Given the description of an element on the screen output the (x, y) to click on. 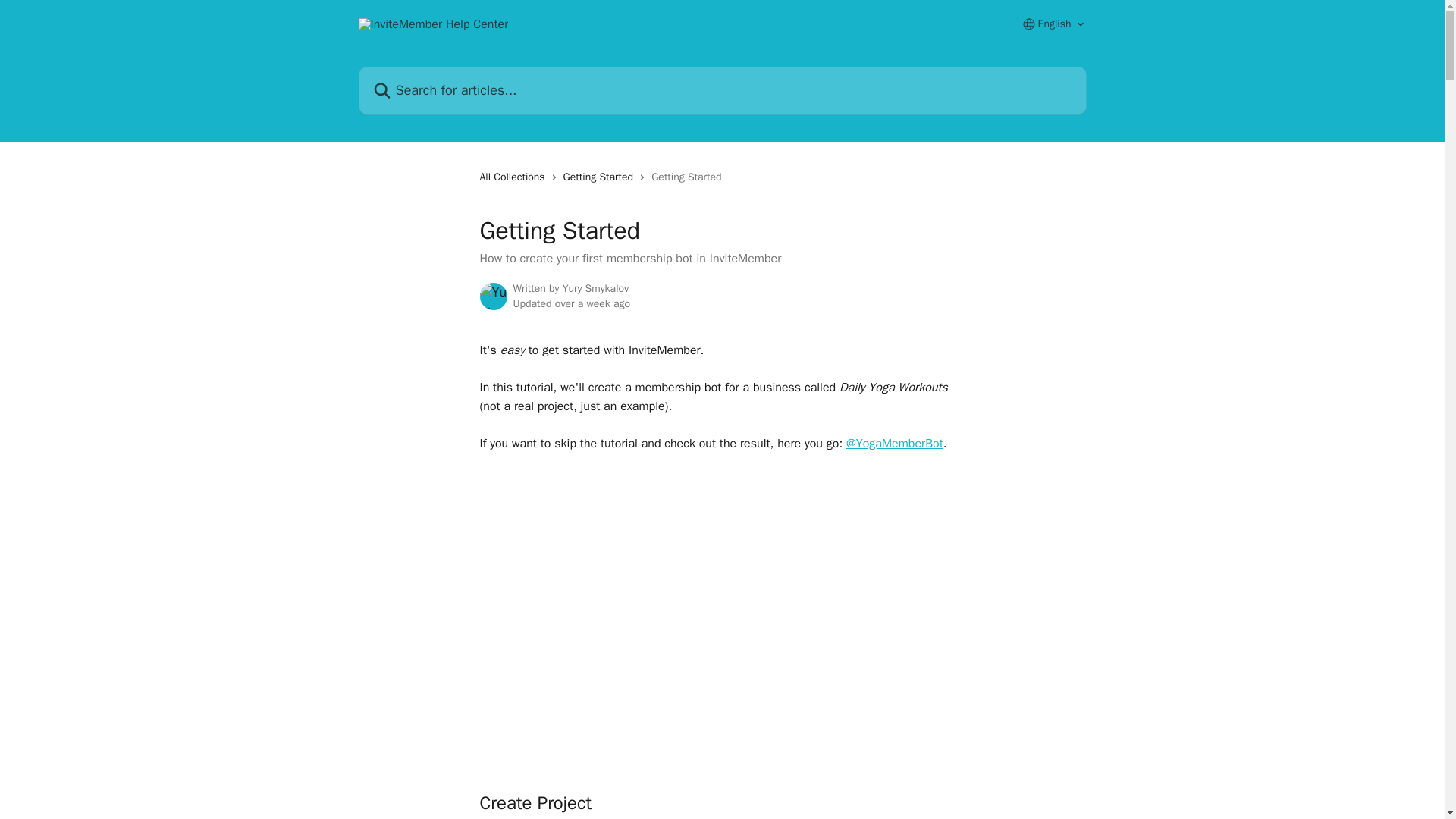
Getting Started (601, 176)
All Collections (514, 176)
